Given the description of an element on the screen output the (x, y) to click on. 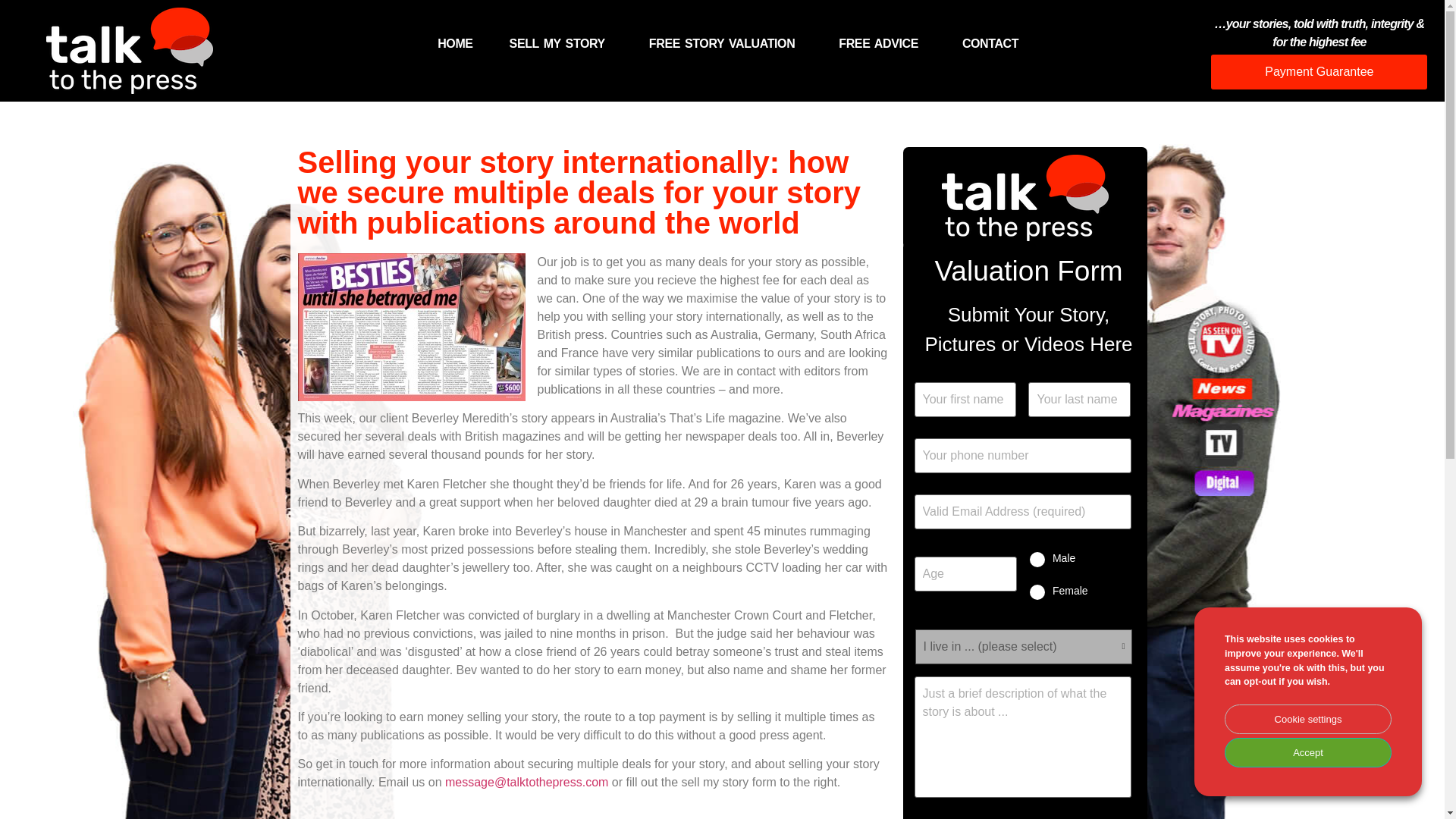
Male (1037, 559)
FREE STORY VALUATION (725, 43)
SELL MY STORY (560, 43)
HOME (454, 43)
CONTACT (994, 43)
FREE ADVICE (881, 43)
Female (1037, 591)
